Given the description of an element on the screen output the (x, y) to click on. 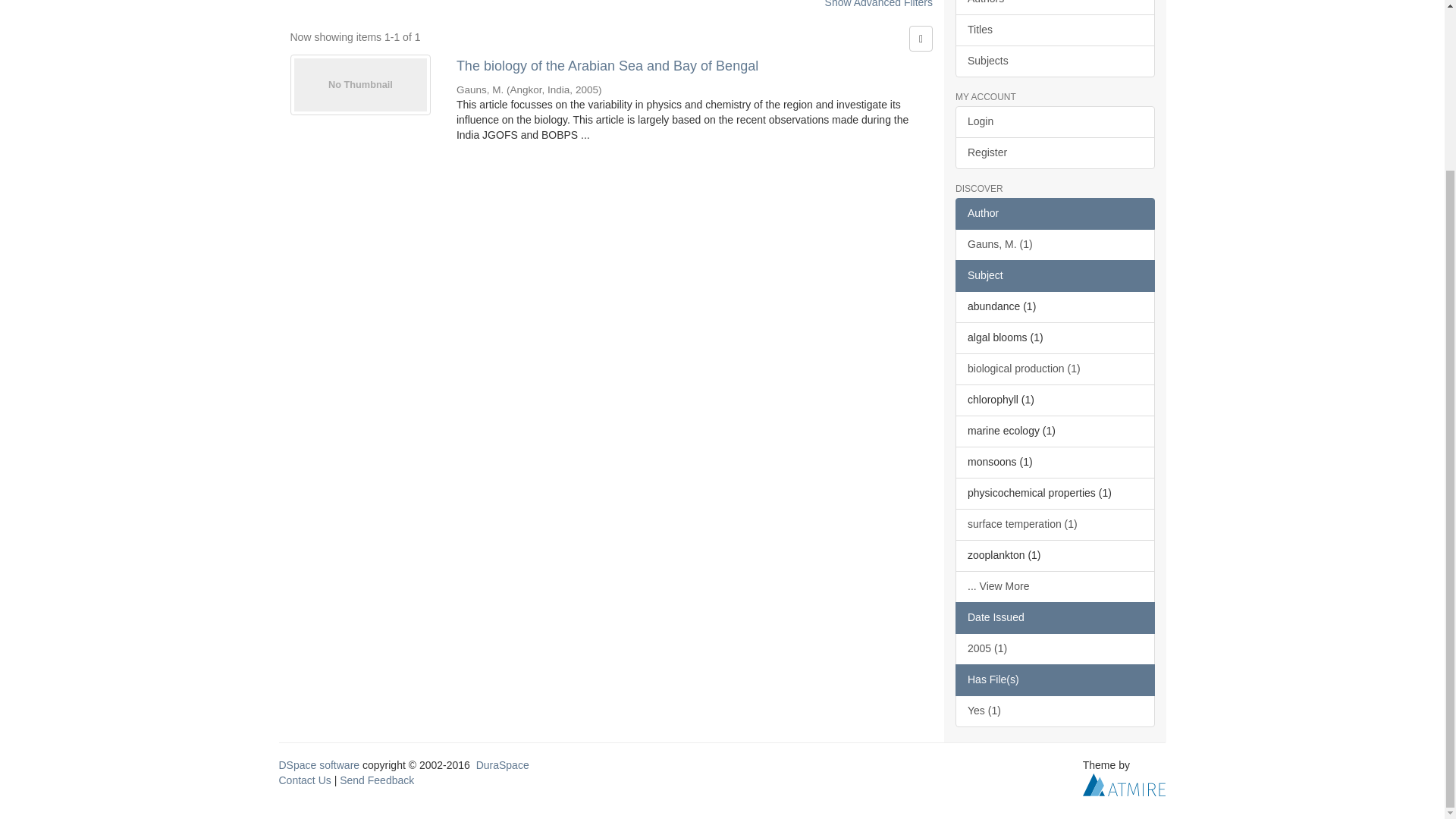
Atmire NV (1124, 784)
Show Advanced Filters (879, 4)
